Given the description of an element on the screen output the (x, y) to click on. 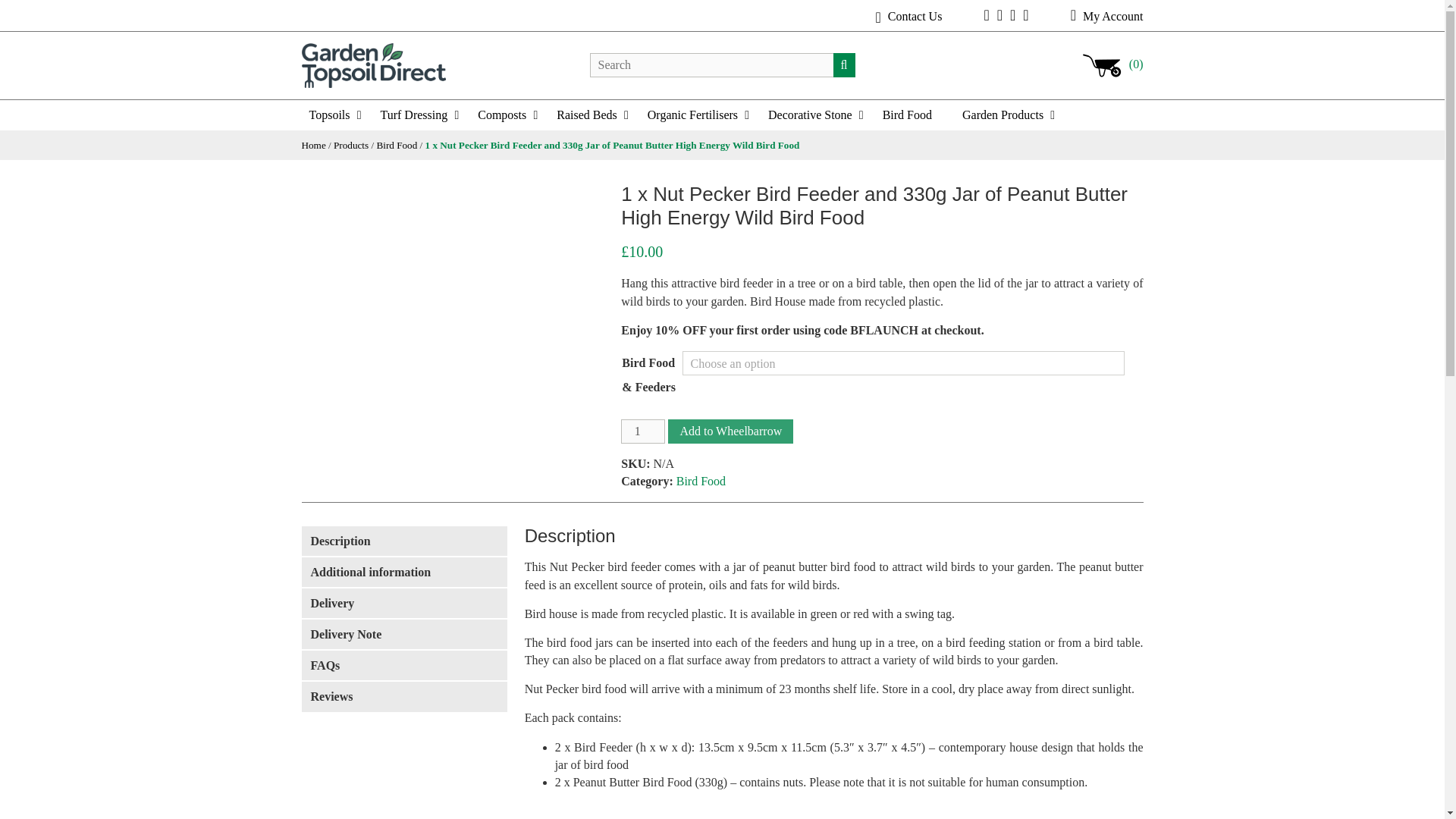
Garden Topsoil Direct (373, 63)
Contact Us (909, 16)
Search (844, 64)
Composts (509, 114)
1 (643, 431)
Topsoils (336, 114)
Turf Dressing (421, 114)
My Account (1106, 16)
Raised Beds (594, 114)
